Given the description of an element on the screen output the (x, y) to click on. 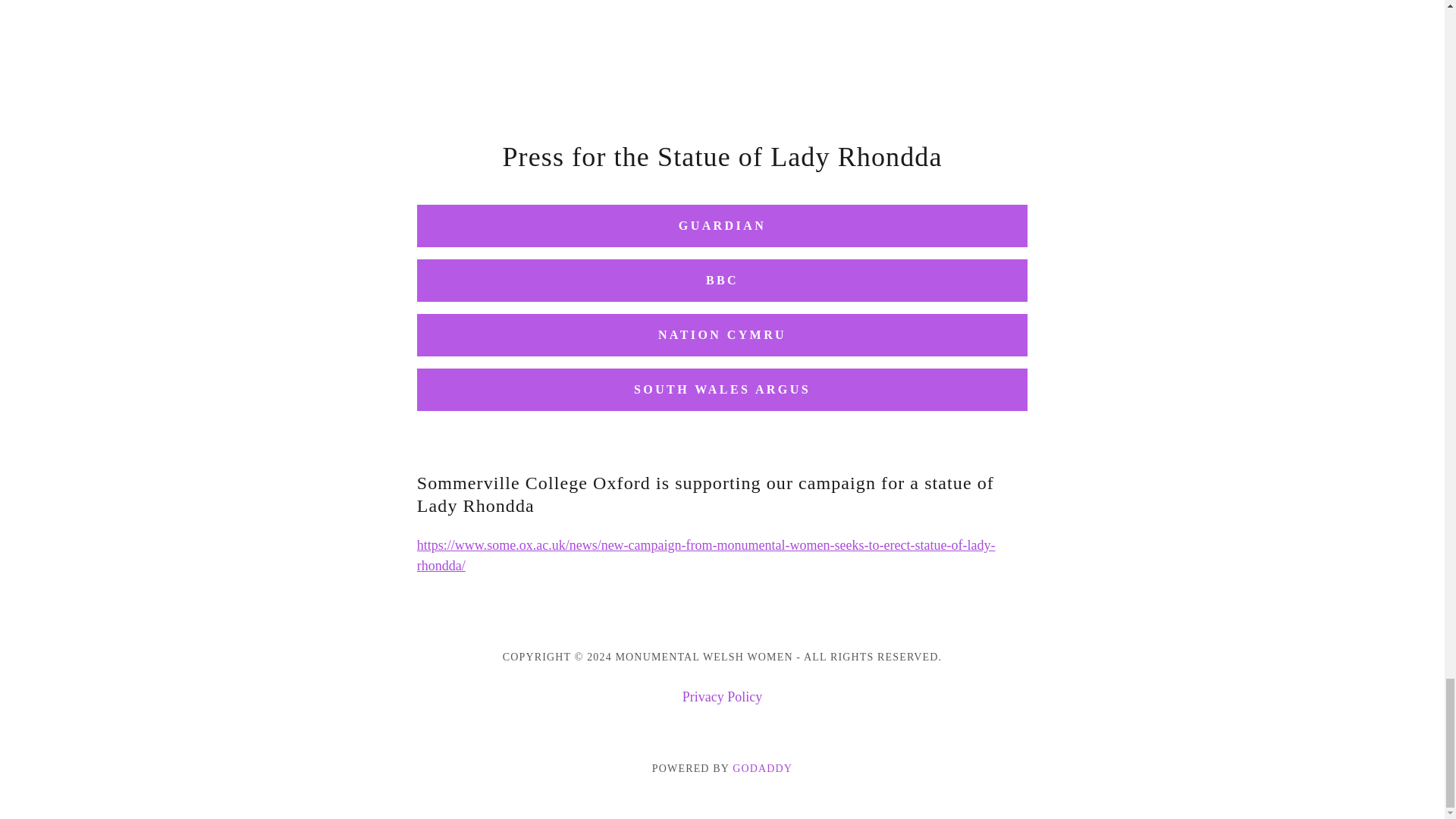
Privacy Policy (722, 697)
GUARDIAN (721, 225)
BBC (721, 280)
NATION CYMRU (721, 334)
GODADDY (762, 767)
SOUTH WALES ARGUS (721, 389)
